Given the description of an element on the screen output the (x, y) to click on. 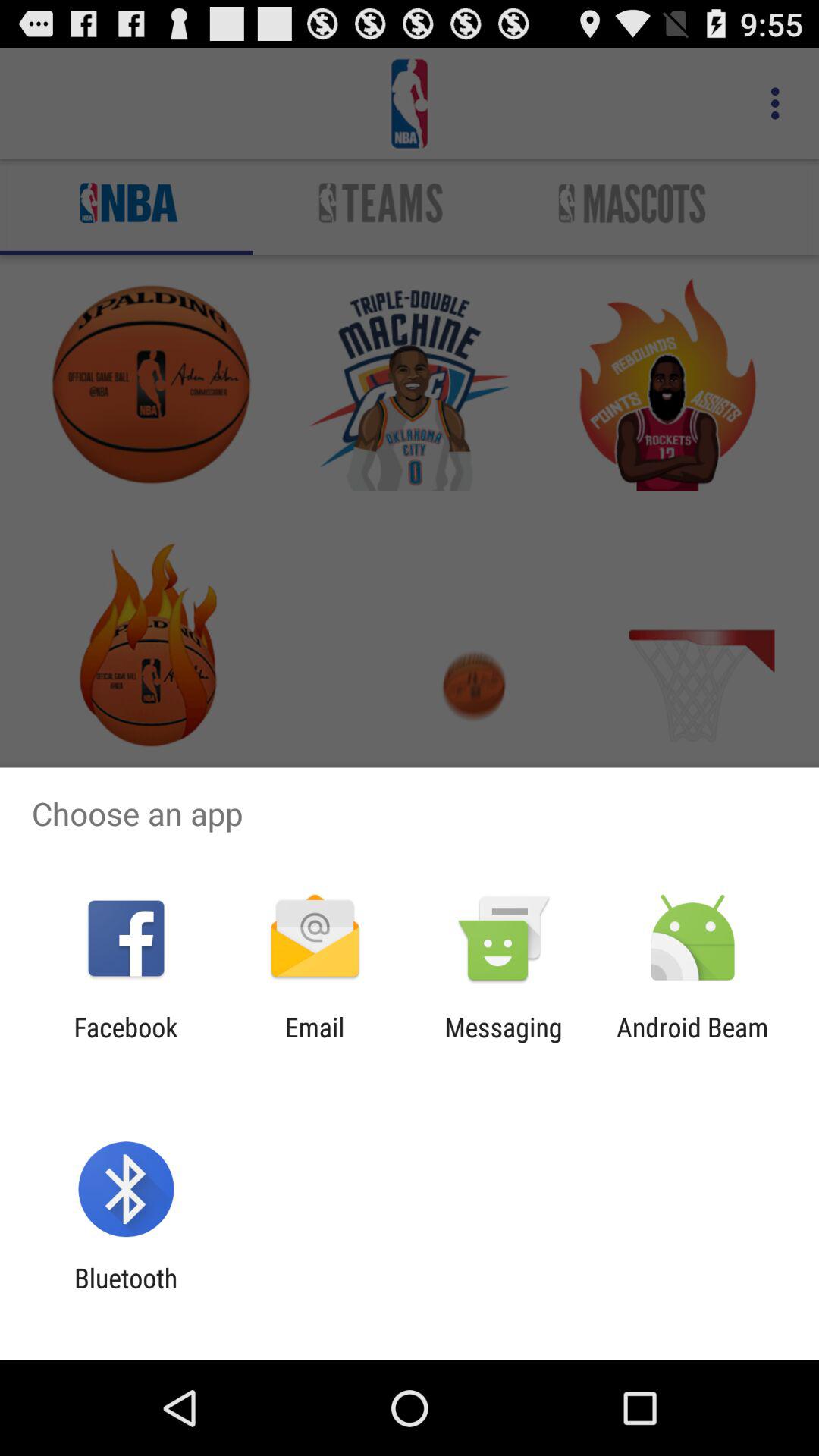
open the app to the left of the email icon (125, 1042)
